Given the description of an element on the screen output the (x, y) to click on. 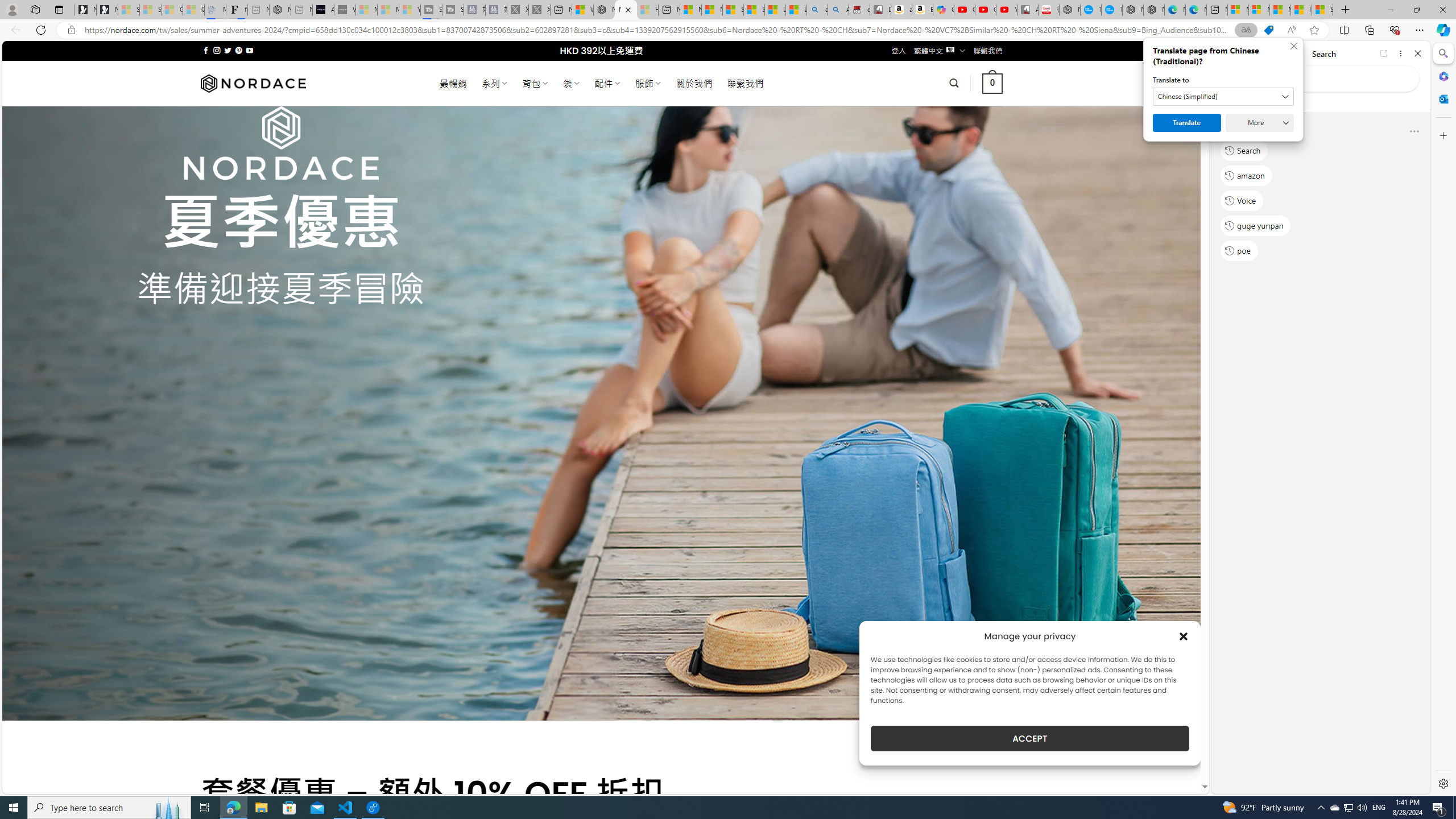
Settings (1442, 783)
I Gained 20 Pounds of Muscle in 30 Days! | Watch (1300, 9)
Show translate options (1245, 29)
Microsoft Start - Sleeping (387, 9)
amazon (1246, 175)
Newsletter Sign Up (106, 9)
